Given the description of an element on the screen output the (x, y) to click on. 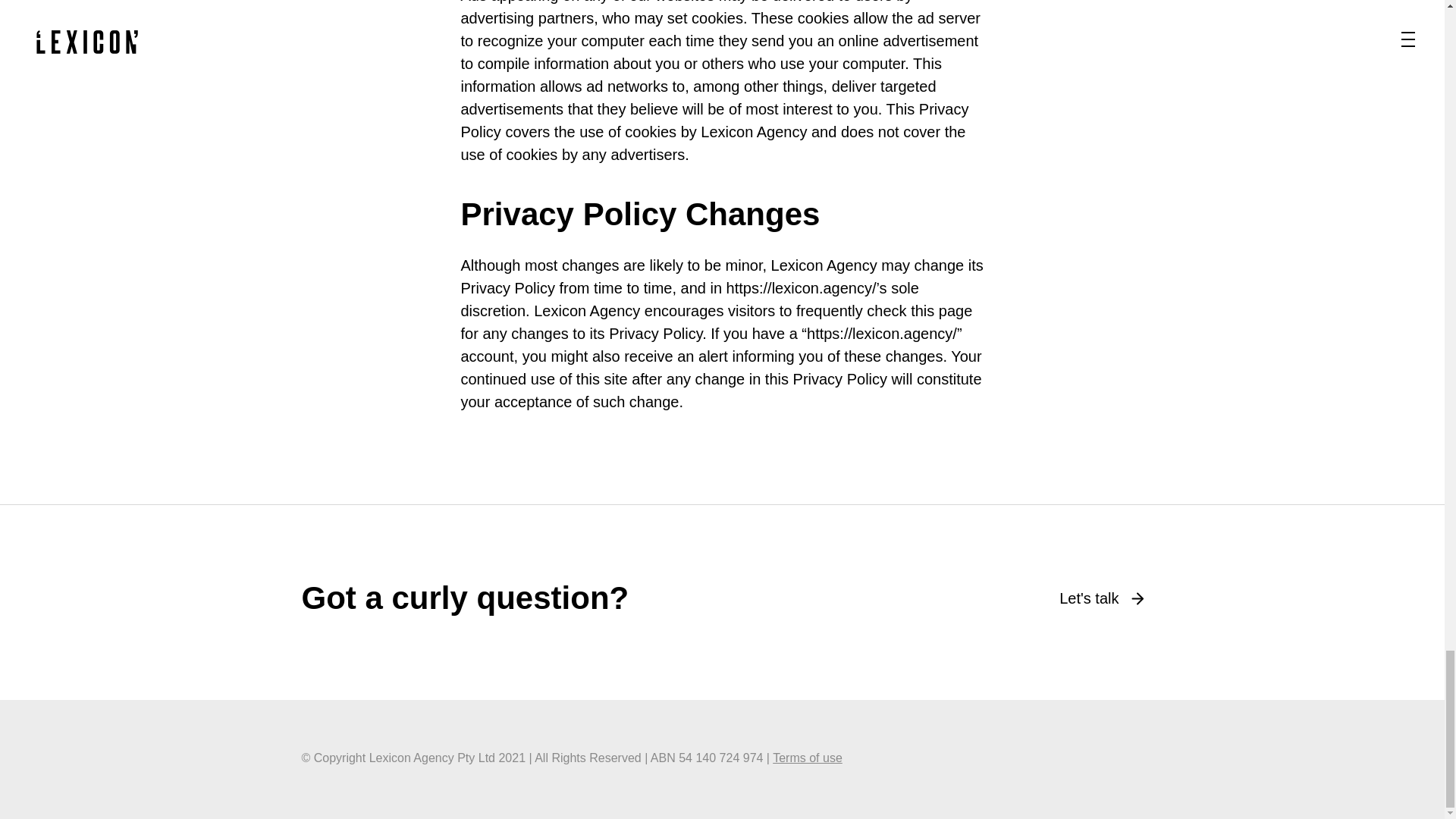
Let's talk (1100, 598)
Terms of use (808, 757)
